Given the description of an element on the screen output the (x, y) to click on. 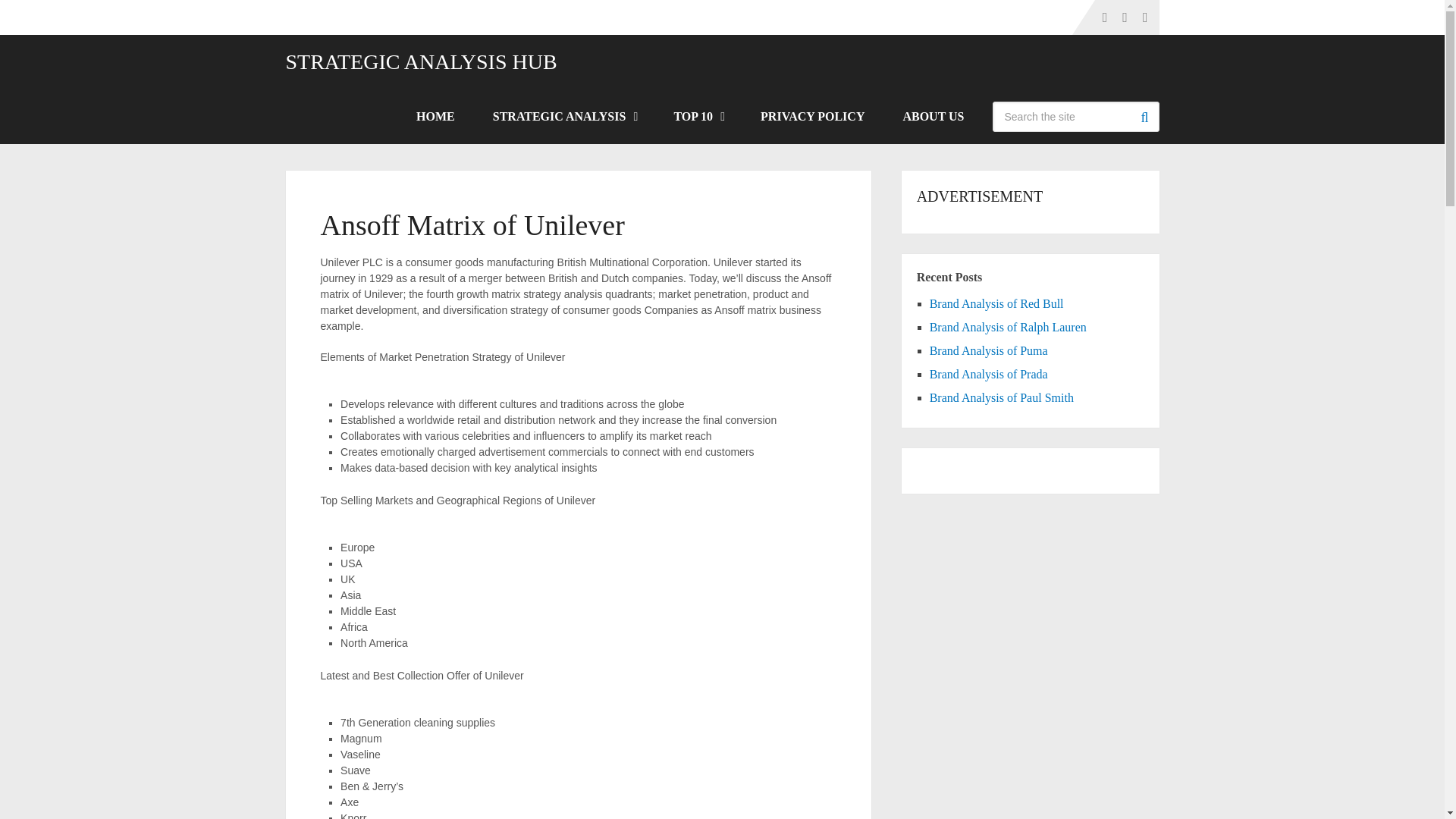
TOP 10 (697, 116)
Search (1143, 116)
ABOUT US (932, 116)
HOME (435, 116)
PRIVACY POLICY (812, 116)
STRATEGIC ANALYSIS (564, 116)
STRATEGIC ANALYSIS HUB (420, 61)
